Given the description of an element on the screen output the (x, y) to click on. 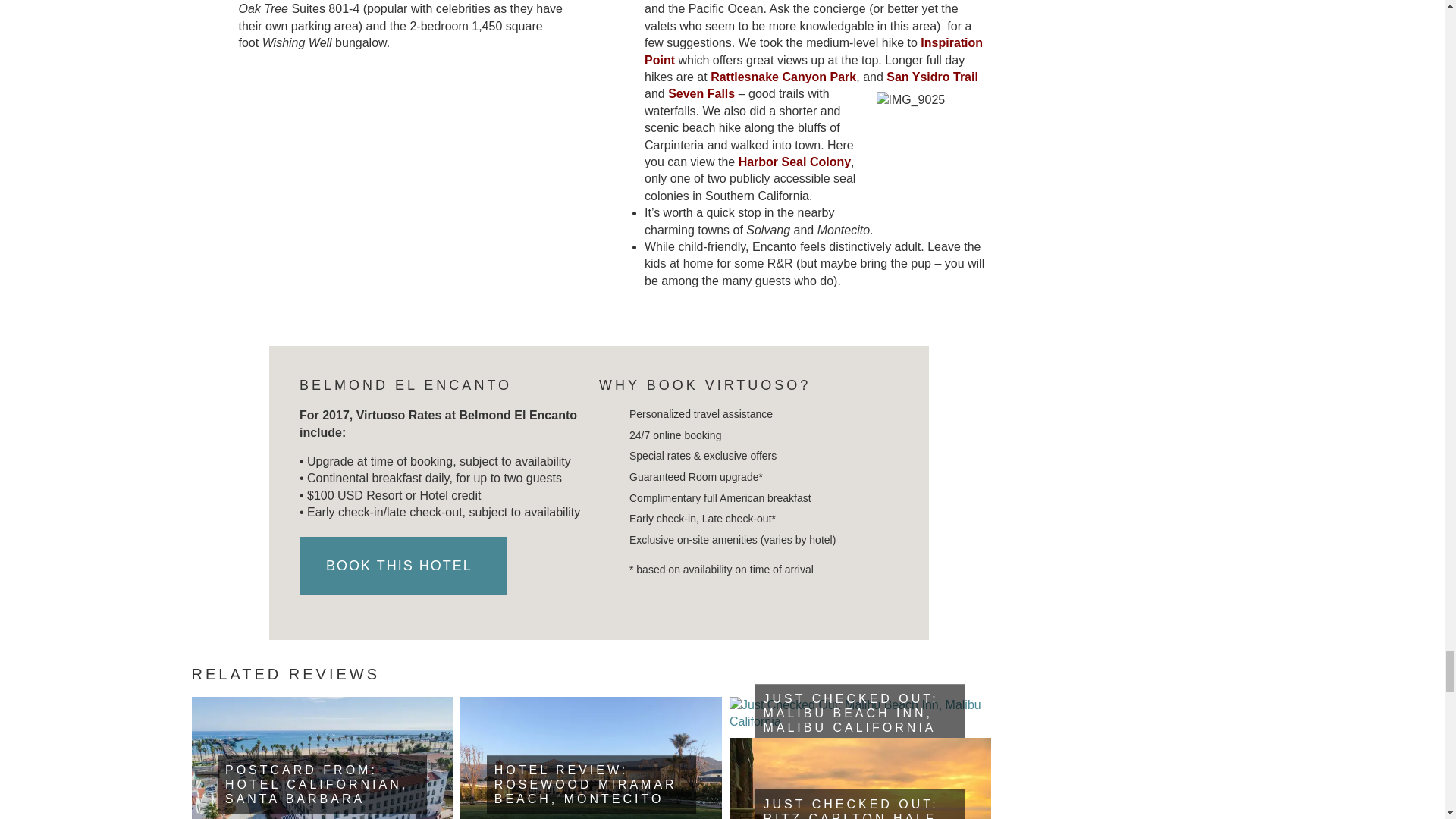
BOOK THIS HOTEL (402, 565)
POSTCARD FROM: HOTEL CALIFORNIAN, SANTA BARBARA (316, 784)
HOTEL REVIEW: ROSEWOOD MIRAMAR BEACH, MONTECITO (586, 784)
